Given the description of an element on the screen output the (x, y) to click on. 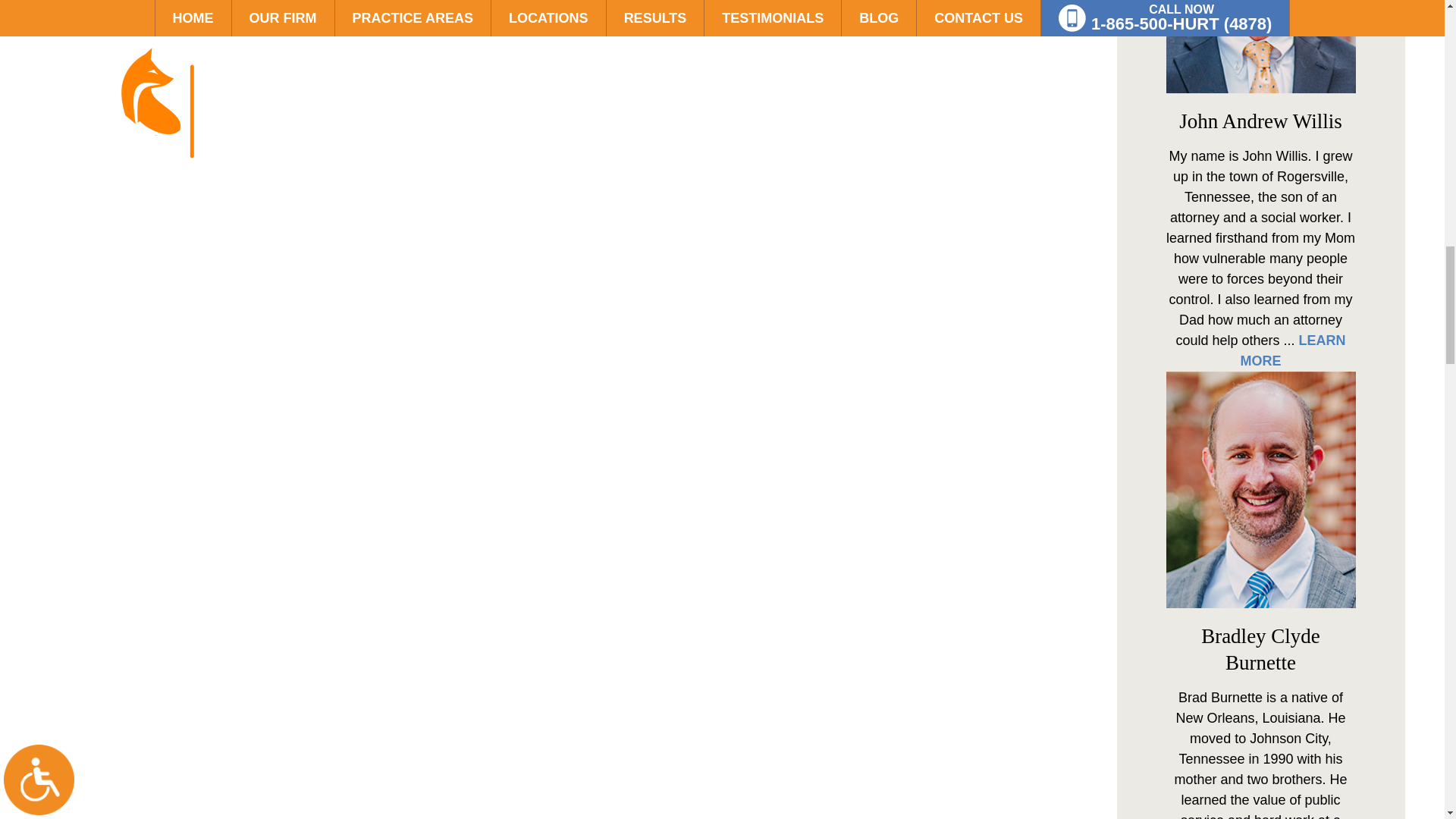
John Andrew Willis (1260, 46)
